Given the description of an element on the screen output the (x, y) to click on. 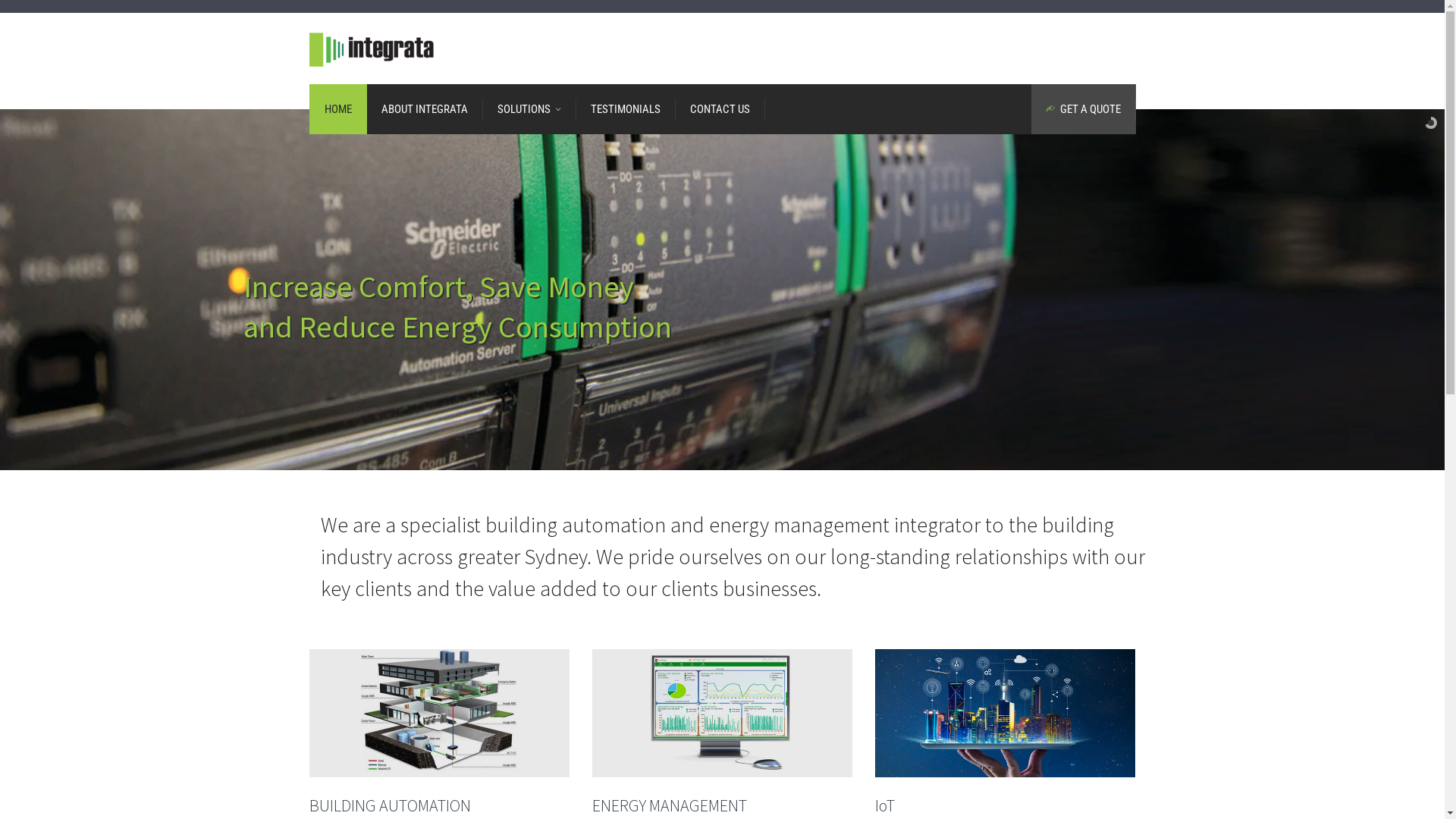
IoT Element type: text (884, 804)
HOME Element type: text (338, 109)
SOLUTIONS Element type: text (529, 109)
CONTACT US Element type: text (719, 109)
ENERGY MANAGEMENT Element type: text (669, 804)
ABOUT INTEGRATA Element type: text (423, 109)
TESTIMONIALS Element type: text (624, 109)
Increase Comfort, Save Money
and Reduce Energy Consumption Element type: text (457, 306)
GET A QUOTE Element type: text (1083, 109)
BUILDING AUTOMATION Element type: text (389, 804)
